Given the description of an element on the screen output the (x, y) to click on. 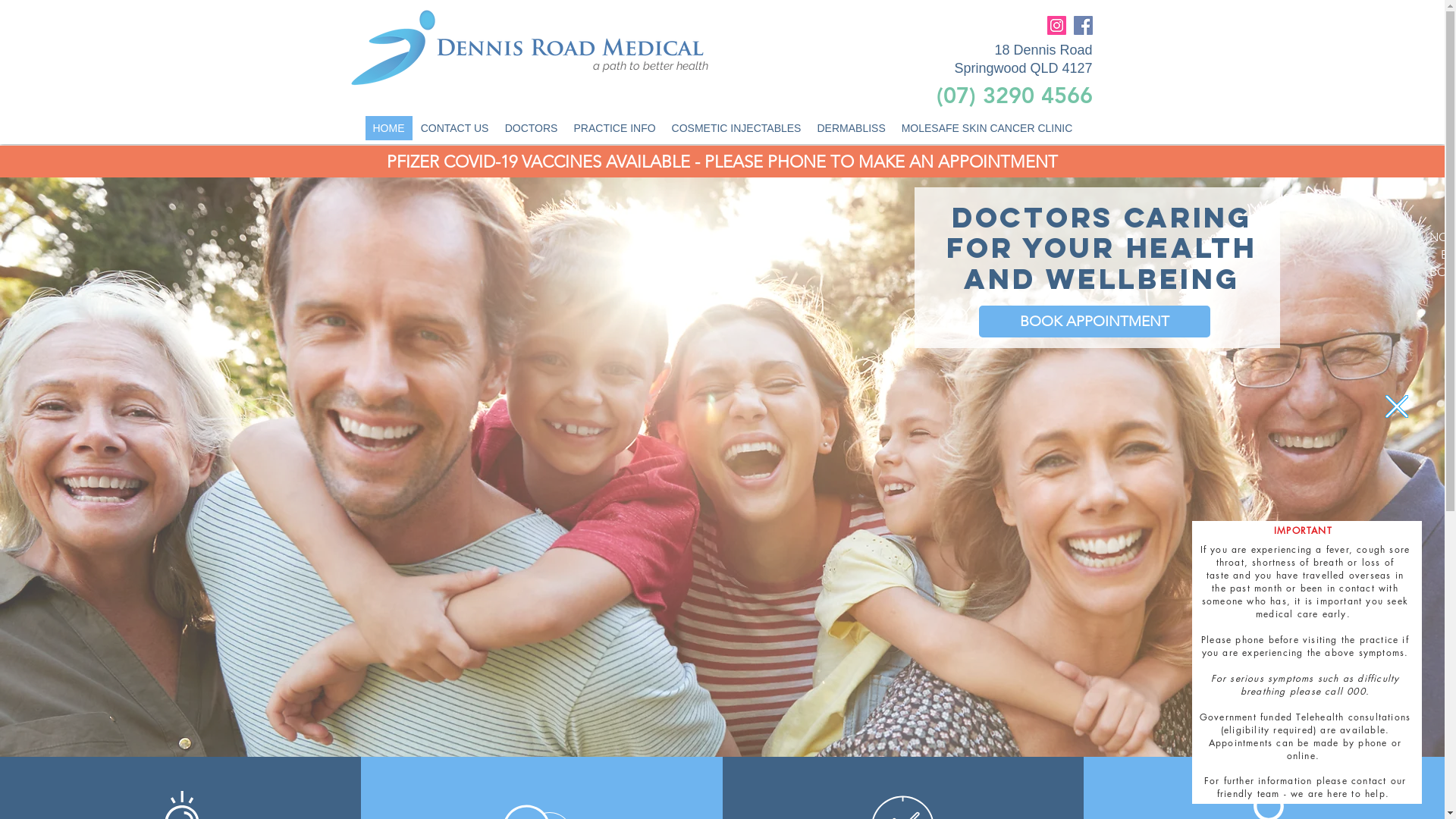
DOCTORS Element type: text (529, 128)
Back to site Element type: hover (1396, 406)
MOLESAFE SKIN CANCER CLINIC Element type: text (986, 128)
DERMABLISS Element type: text (850, 128)
HOME Element type: text (387, 128)
PRACTICE INFO Element type: text (614, 128)
COSMETIC INJECTABLES Element type: text (735, 128)
CONTACT US Element type: text (454, 128)
BOOK APPOINTMENT Element type: text (1094, 321)
